Given the description of an element on the screen output the (x, y) to click on. 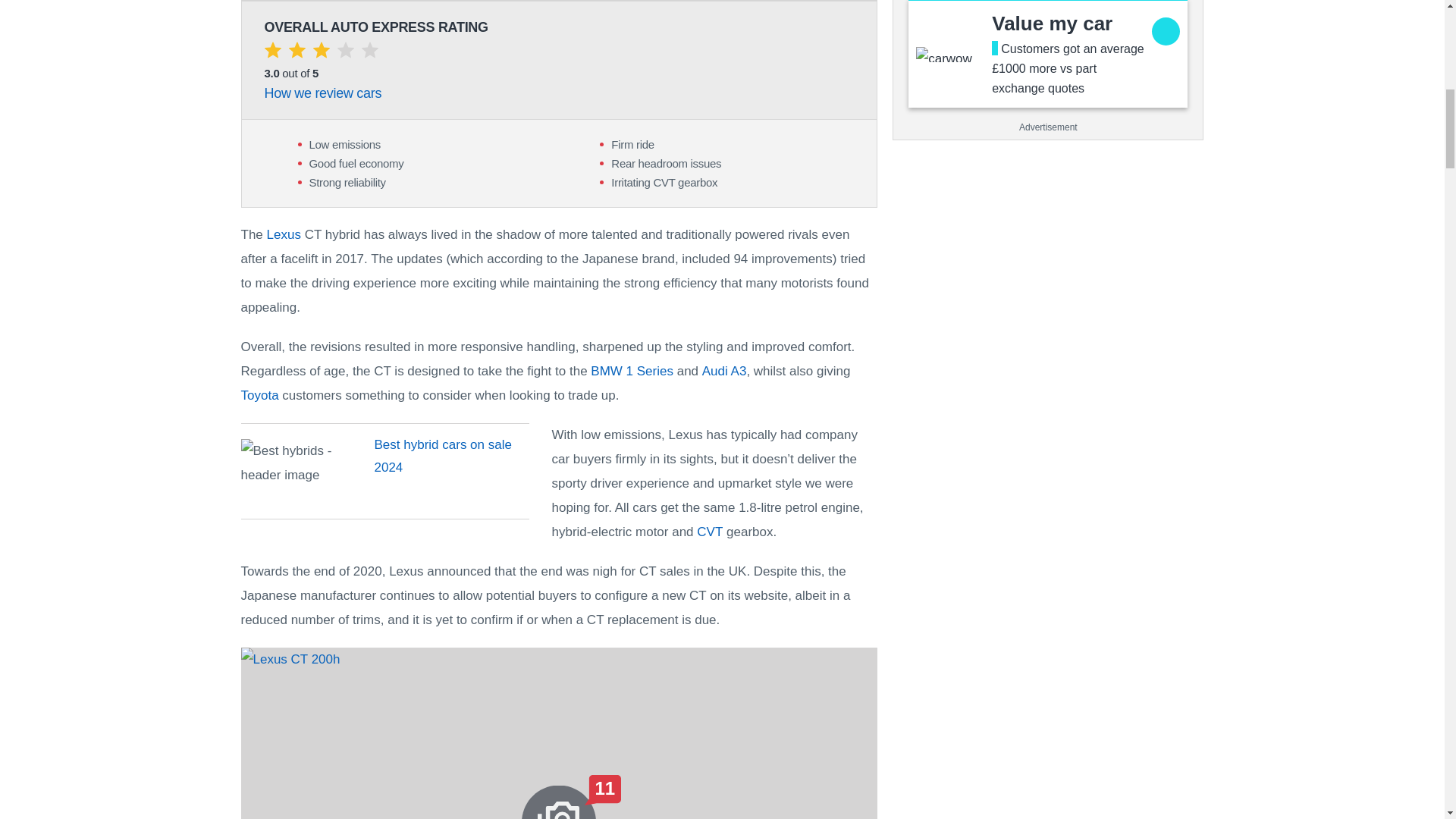
3 Stars (320, 52)
